Given the description of an element on the screen output the (x, y) to click on. 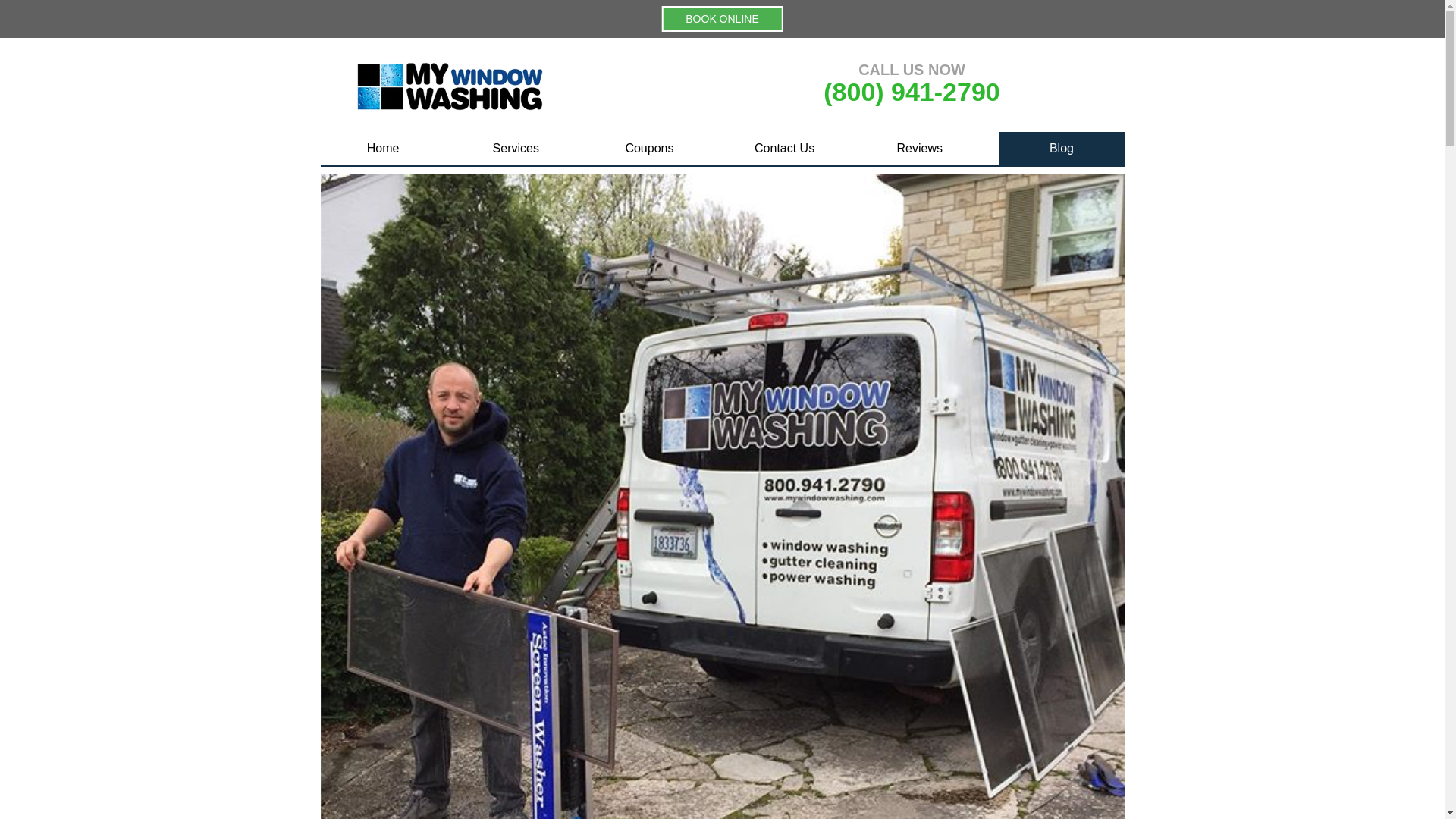
Customer Reviews (919, 147)
Blog (1061, 147)
Contact Us (784, 147)
Coupons (648, 147)
Home (382, 147)
Discounts and Coupons (648, 147)
My Window Washing Blog (1061, 147)
Home Page (382, 147)
Reviews (919, 147)
BOOK ONLINE (722, 18)
Contact Us (784, 147)
